Given the description of an element on the screen output the (x, y) to click on. 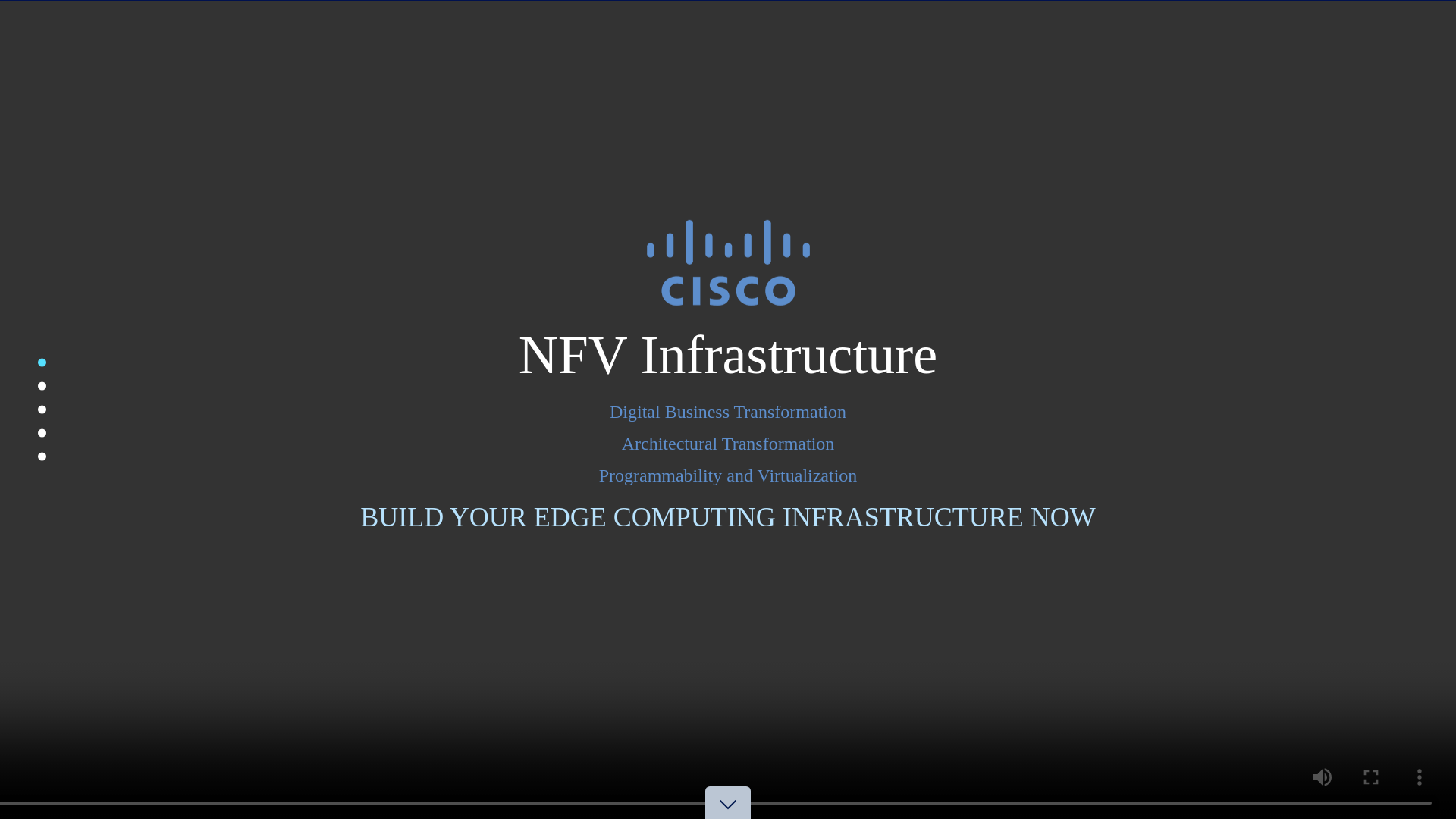
Scroll Down (727, 818)
